Given the description of an element on the screen output the (x, y) to click on. 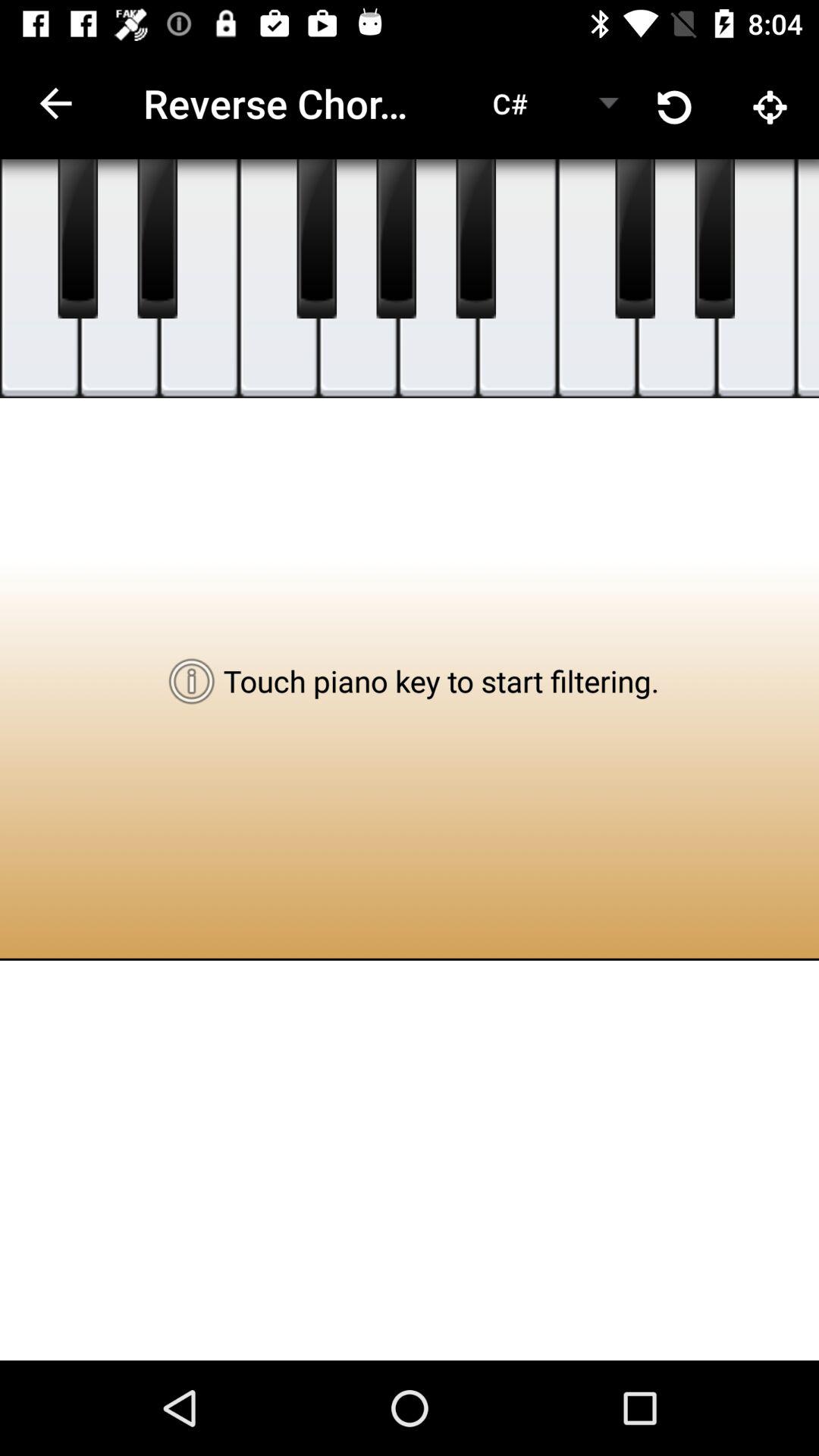
tap the item above the touch piano key item (475, 238)
